Given the description of an element on the screen output the (x, y) to click on. 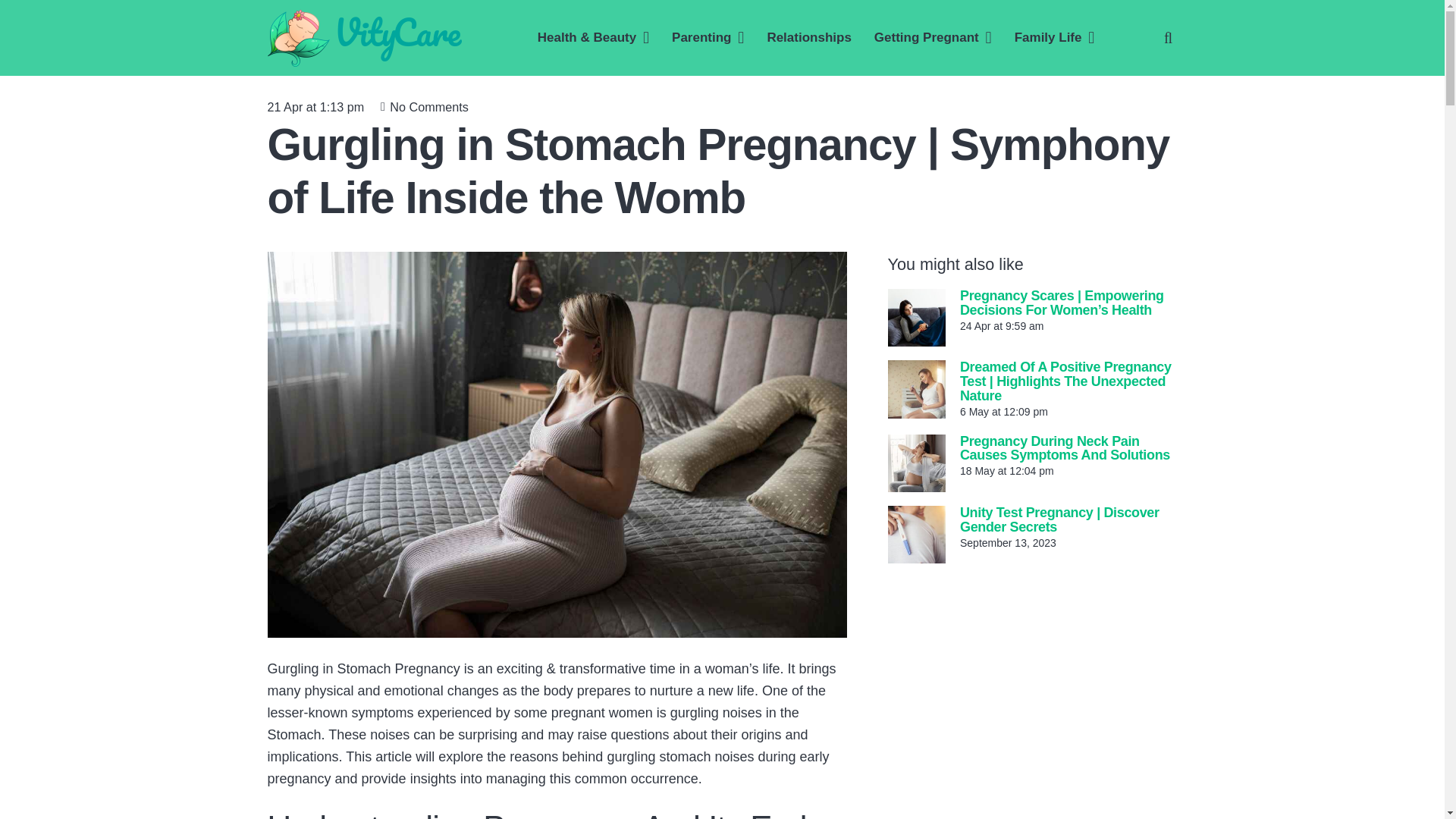
Family Life (1054, 37)
Relationships (808, 37)
Pregnancy During Neck Pain Causes Symptoms And Solutions (1064, 448)
No Comments (428, 106)
No Comments (428, 106)
Pregnancy during Neck Pain Causes Symptoms and Solutions 5 (915, 463)
Getting Pregnant (933, 37)
Parenting (708, 37)
